Given the description of an element on the screen output the (x, y) to click on. 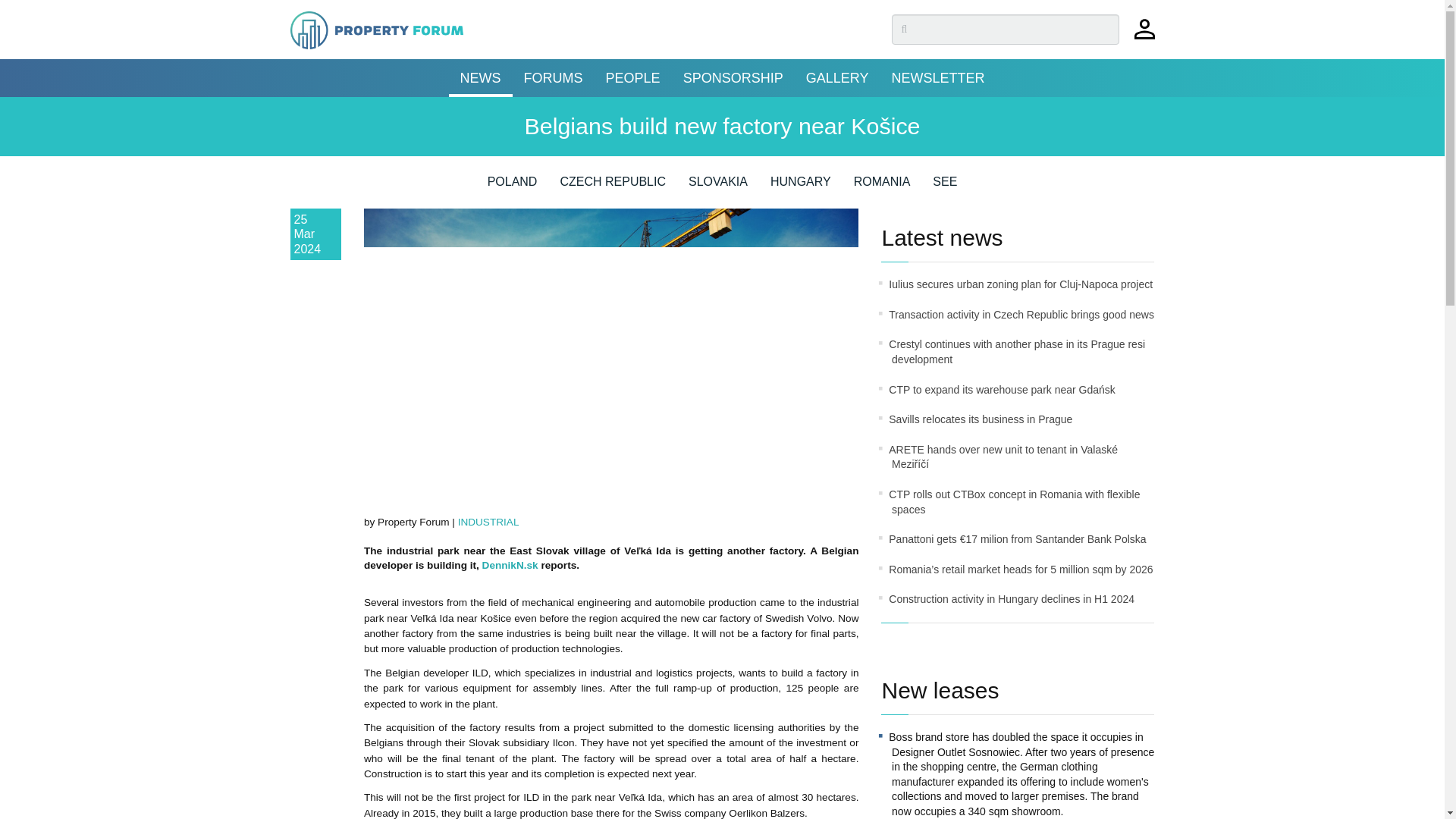
SEE (944, 186)
NEWSLETTER (937, 77)
SLOVAKIA (718, 186)
FORUMS (553, 77)
ROMANIA (882, 186)
GALLERY (837, 77)
HUNGARY (800, 186)
DennikN.sk (509, 564)
CZECH REPUBLIC (612, 186)
Signed out (1144, 36)
